Given the description of an element on the screen output the (x, y) to click on. 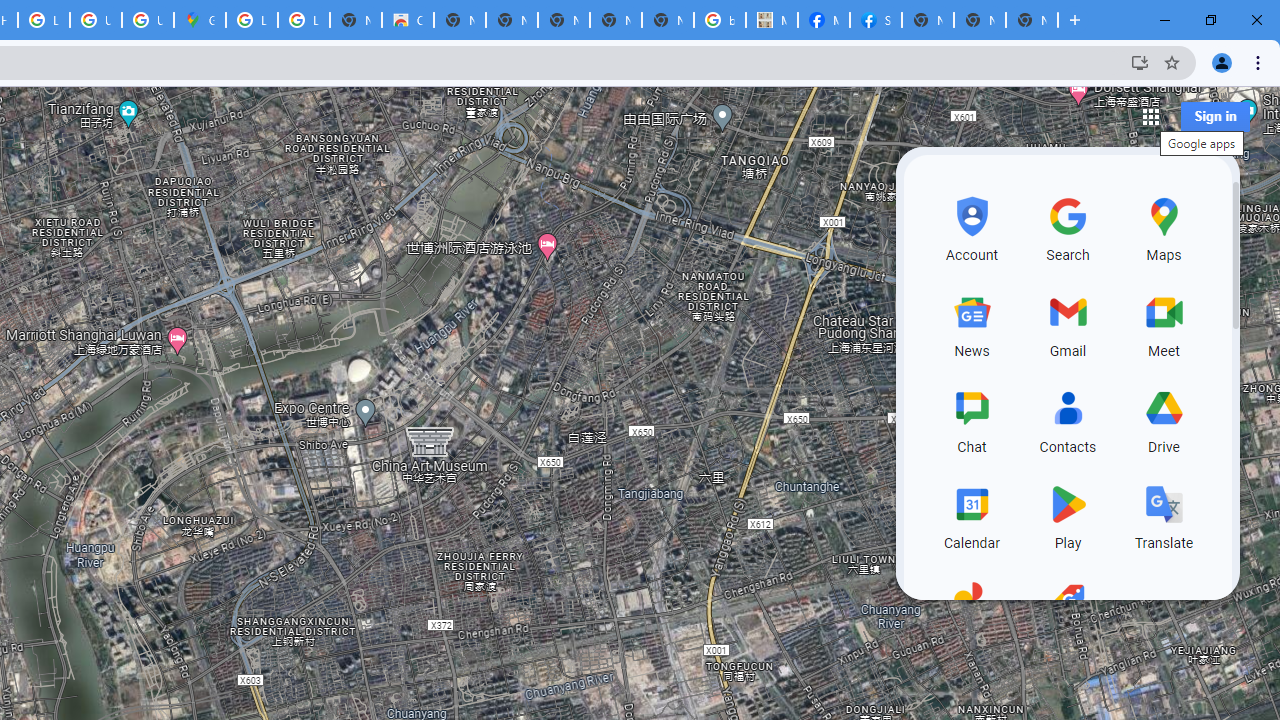
New Tab (1032, 20)
Install Google Maps (1139, 62)
MILEY CYRUS. (771, 20)
